Given the description of an element on the screen output the (x, y) to click on. 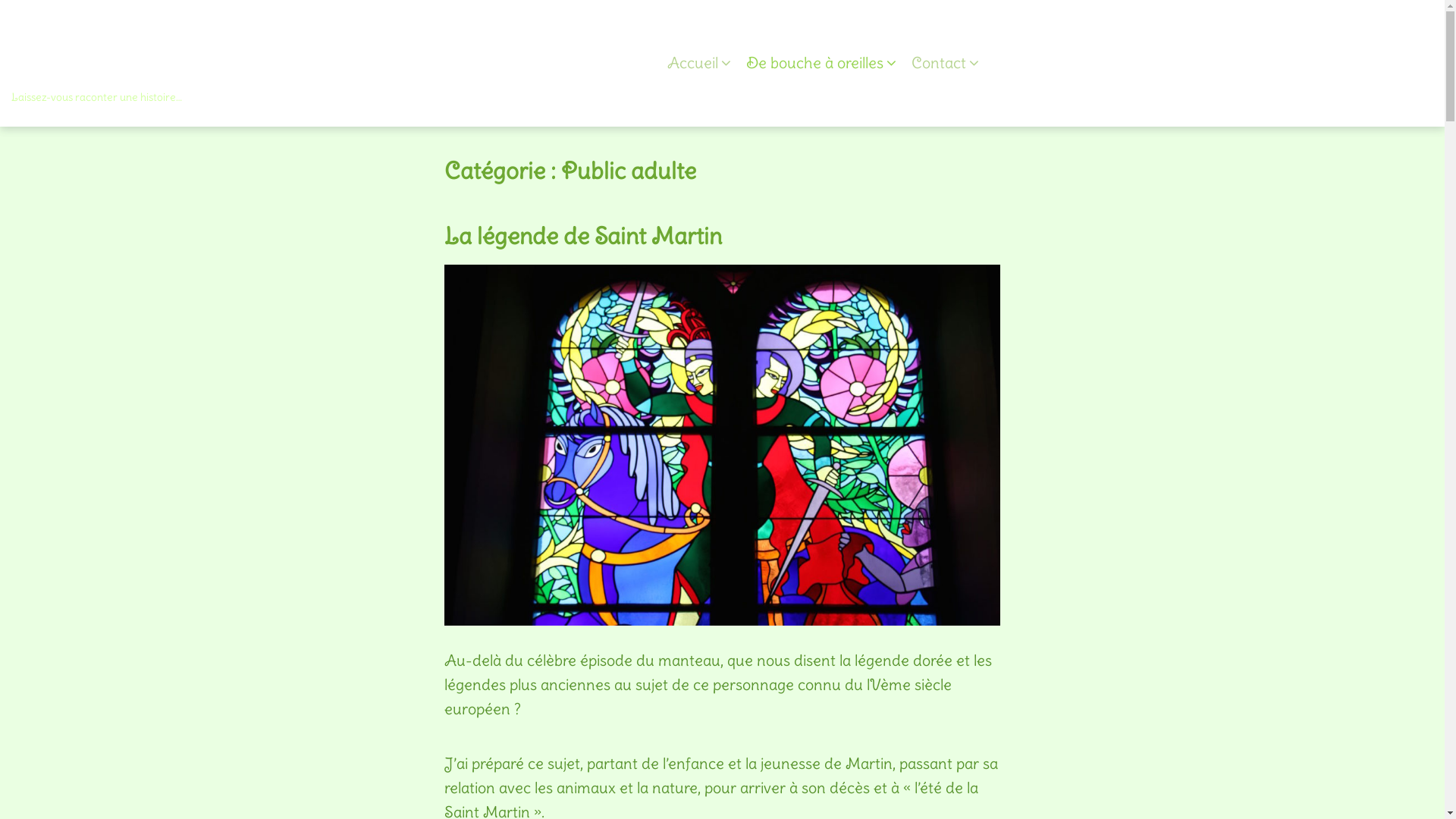
Contact Element type: text (945, 62)
Accueil Element type: text (699, 62)
